Given the description of an element on the screen output the (x, y) to click on. 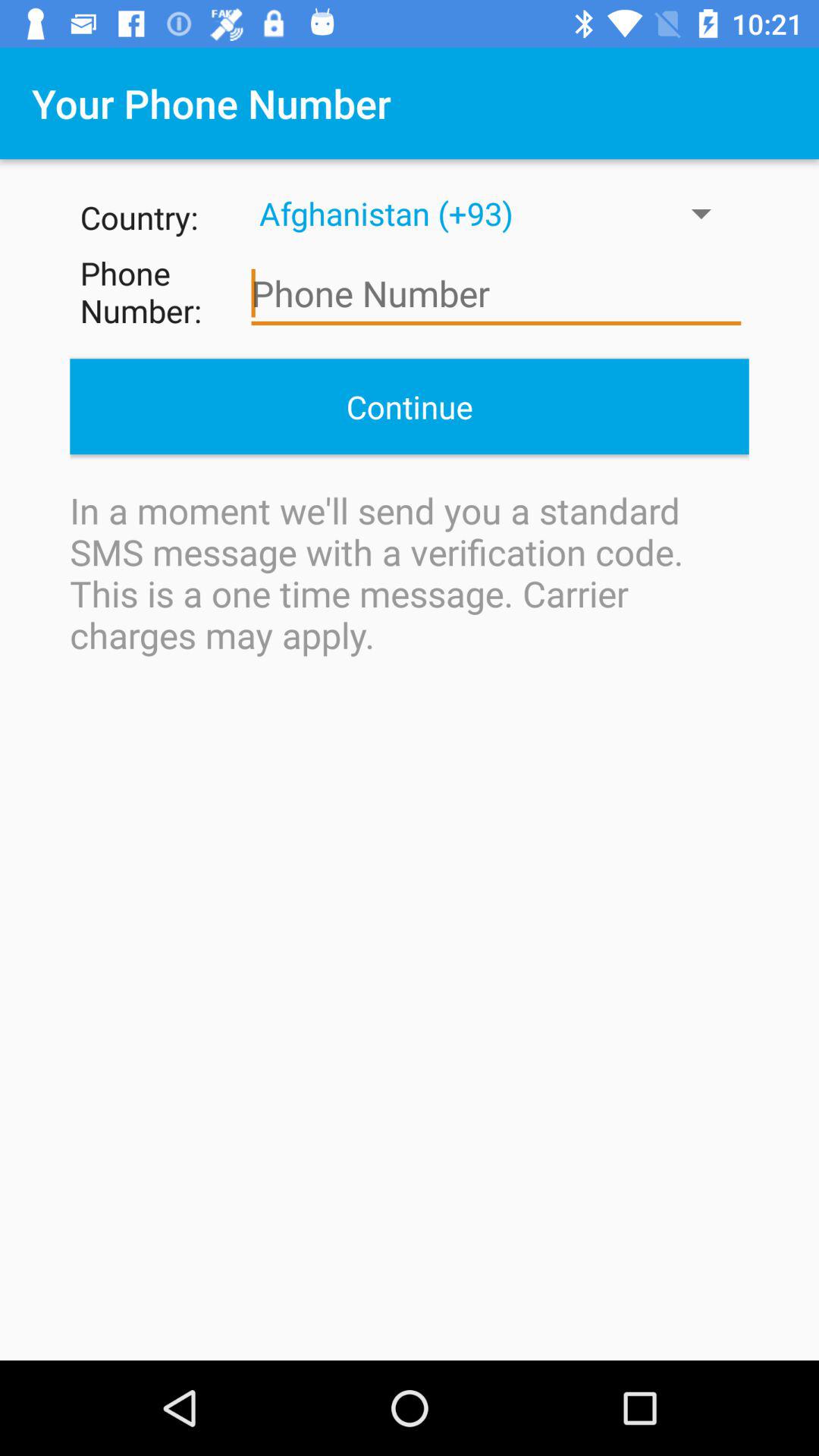
enter your phone number here (496, 293)
